Given the description of an element on the screen output the (x, y) to click on. 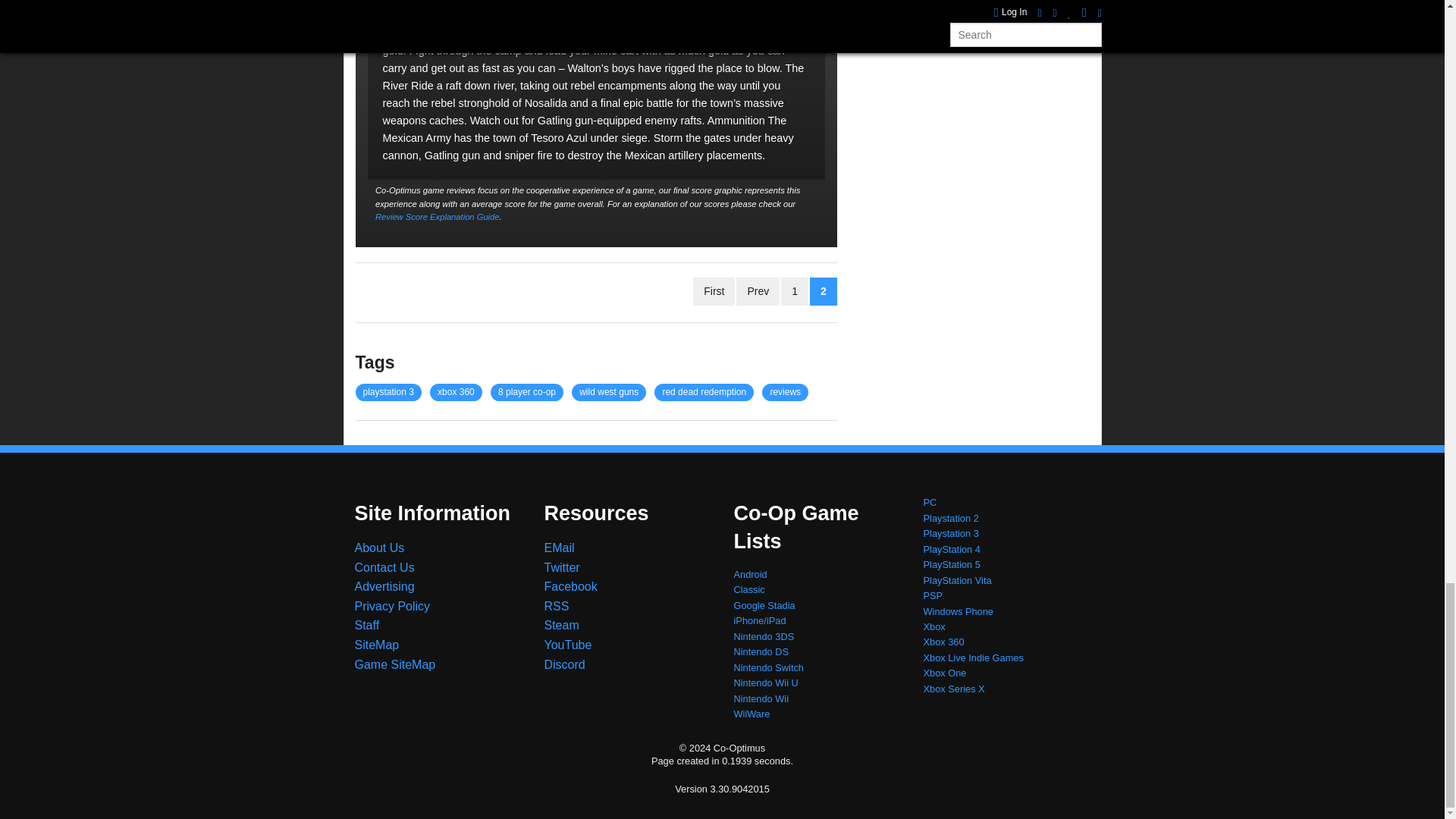
Join our Steam Group! (561, 625)
Advertising rates and traffic numbers. (384, 585)
Our current staff and bios. (367, 625)
